Given the description of an element on the screen output the (x, y) to click on. 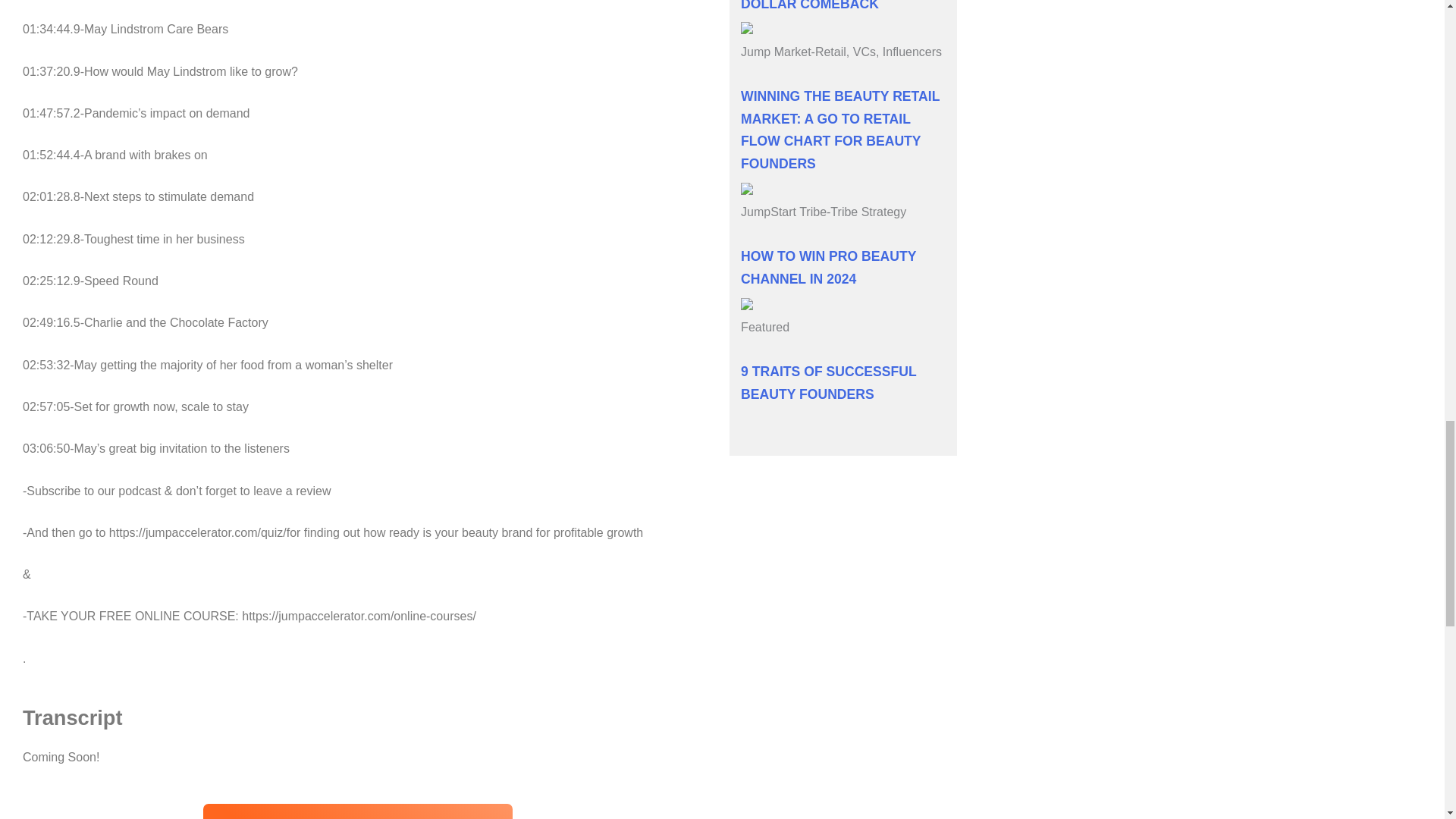
Join Your Free Online Course Now (357, 811)
